Given the description of an element on the screen output the (x, y) to click on. 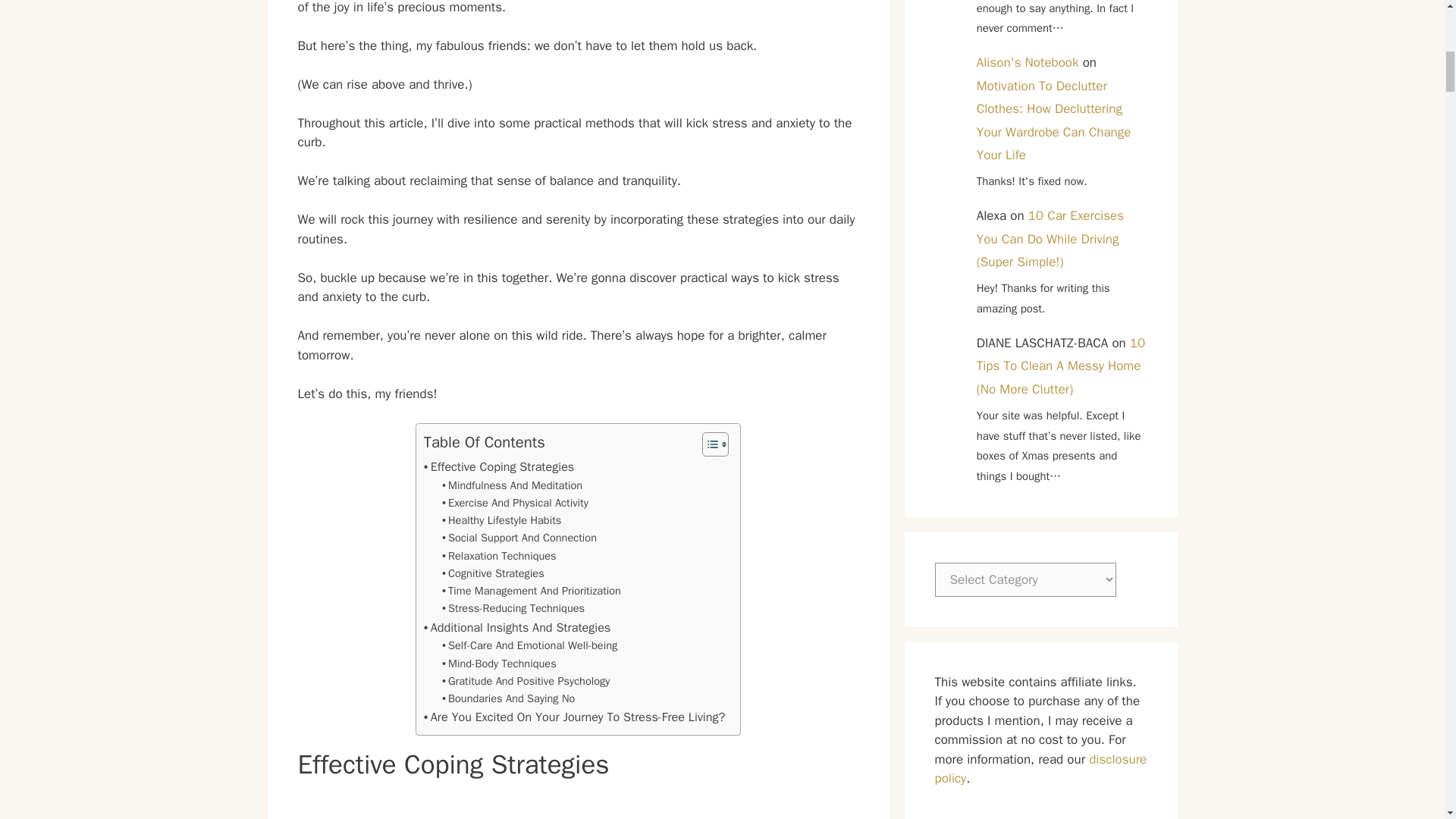
Social Support And Connection (519, 538)
Exercise And Physical Activity (515, 502)
Relaxation Techniques (499, 556)
Stress-Reducing Techniques (513, 608)
Effective Coping Strategies (498, 466)
Healthy Lifestyle Habits (501, 520)
Time Management And Prioritization (531, 590)
Cognitive Strategies (493, 573)
Mindfulness And Meditation (512, 485)
Mind-Body Techniques (499, 663)
Additional Insights And Strategies (516, 628)
Cognitive Strategies (493, 573)
Mindfulness And Meditation (512, 485)
Effective Coping Strategies (498, 466)
Additional Insights And Strategies (516, 628)
